Given the description of an element on the screen output the (x, y) to click on. 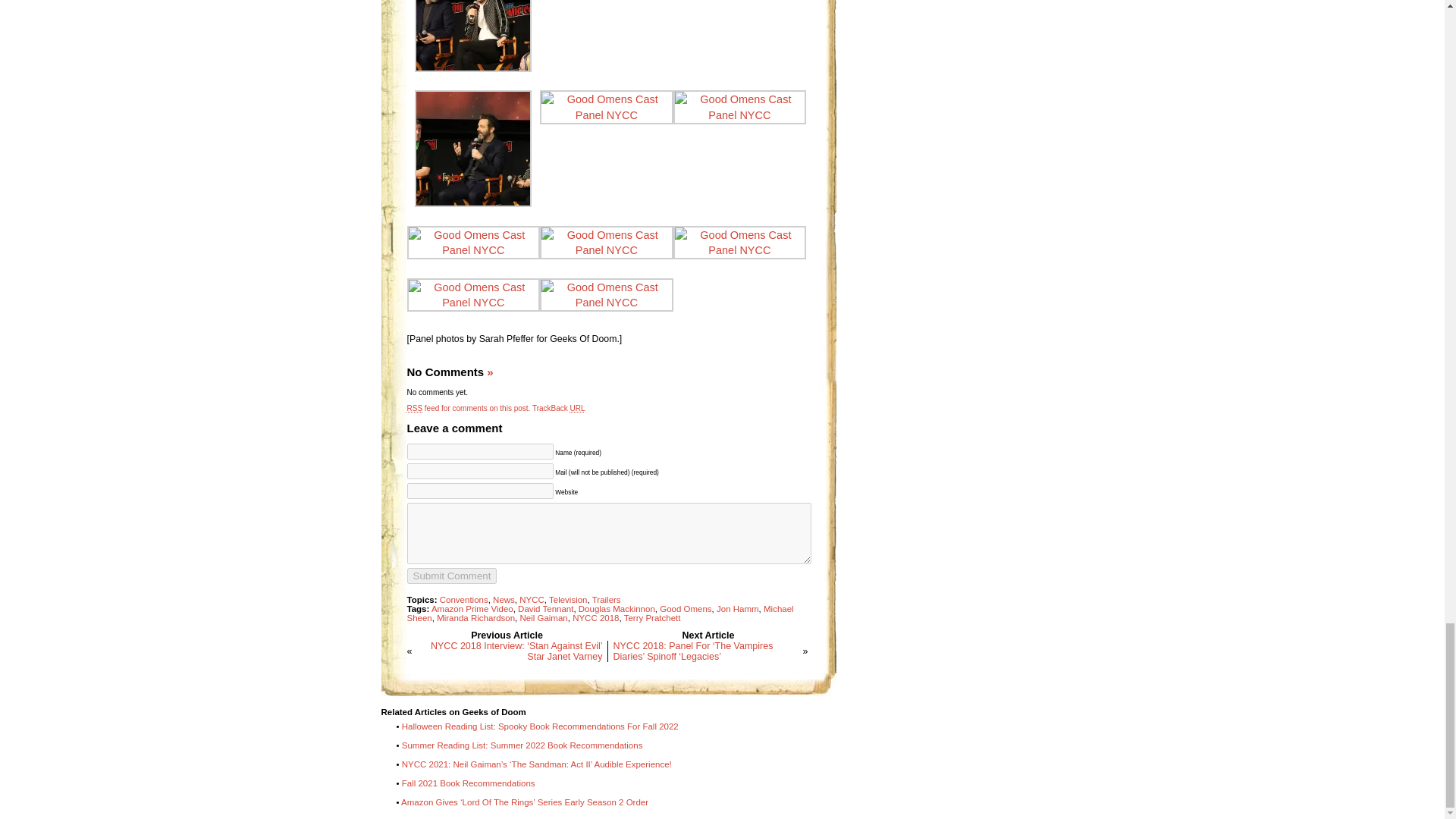
Conventions (463, 599)
Submit Comment (451, 575)
TrackBack URL (558, 408)
News (504, 599)
RSS feed for comments on this post. (467, 408)
NYCC (531, 599)
Television (568, 599)
Submit Comment (451, 575)
